Given the description of an element on the screen output the (x, y) to click on. 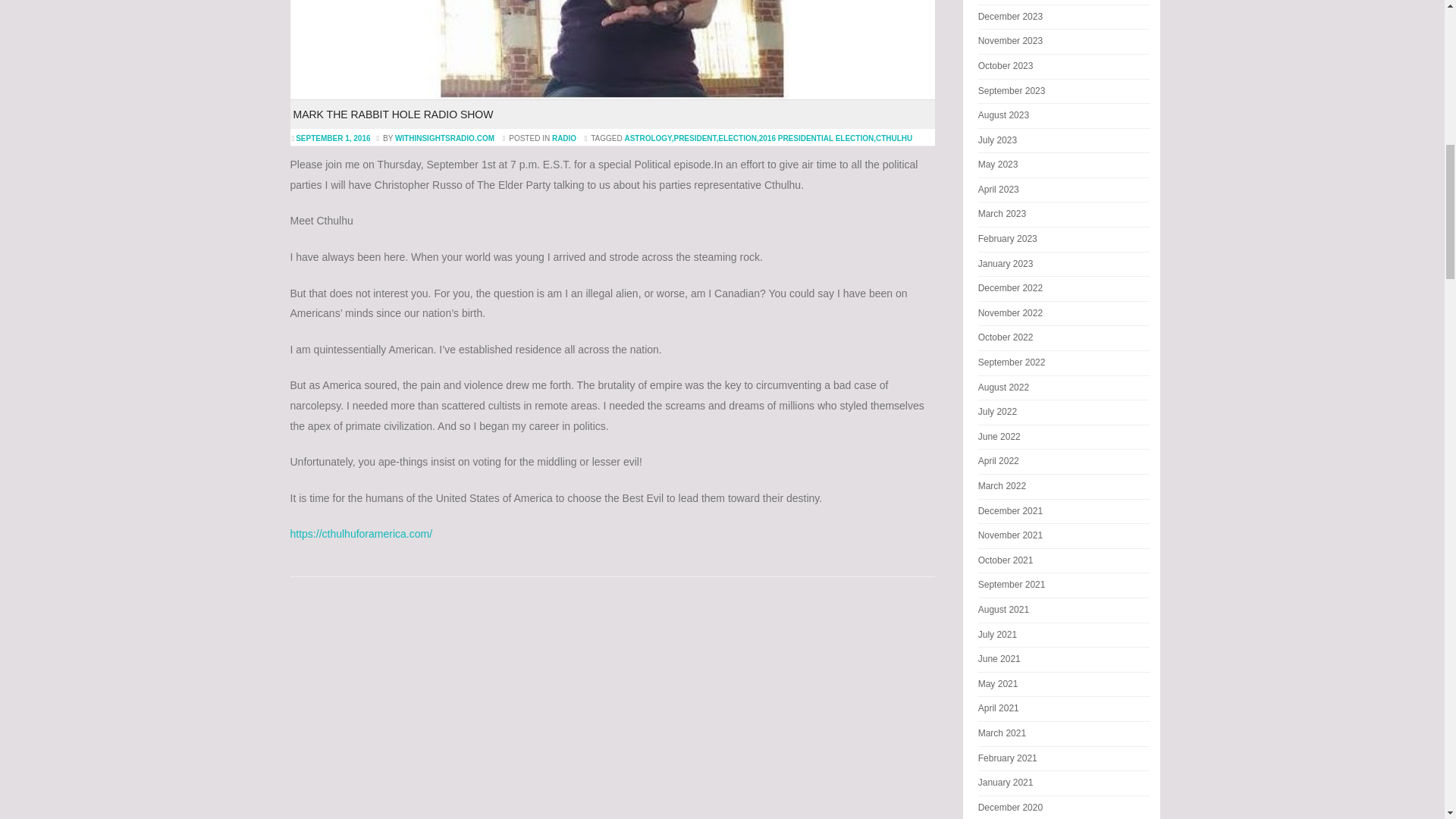
March 2023 (1002, 213)
October 2023 (1005, 65)
11:00 pm (333, 138)
May 2023 (997, 163)
August 2023 (1003, 114)
July 2023 (997, 140)
MARK THE RABBIT HOLE RADIO SHOW (392, 114)
WITHINSIGHTSRADIO.COM (444, 138)
View all posts by WithInsightsRadio.com (444, 138)
SEPTEMBER 1, 2016 (333, 138)
RADIO (563, 138)
Permalink to Mark The Rabbit Hole Radio Show (392, 114)
December 2023 (1010, 16)
April 2023 (998, 189)
